Given the description of an element on the screen output the (x, y) to click on. 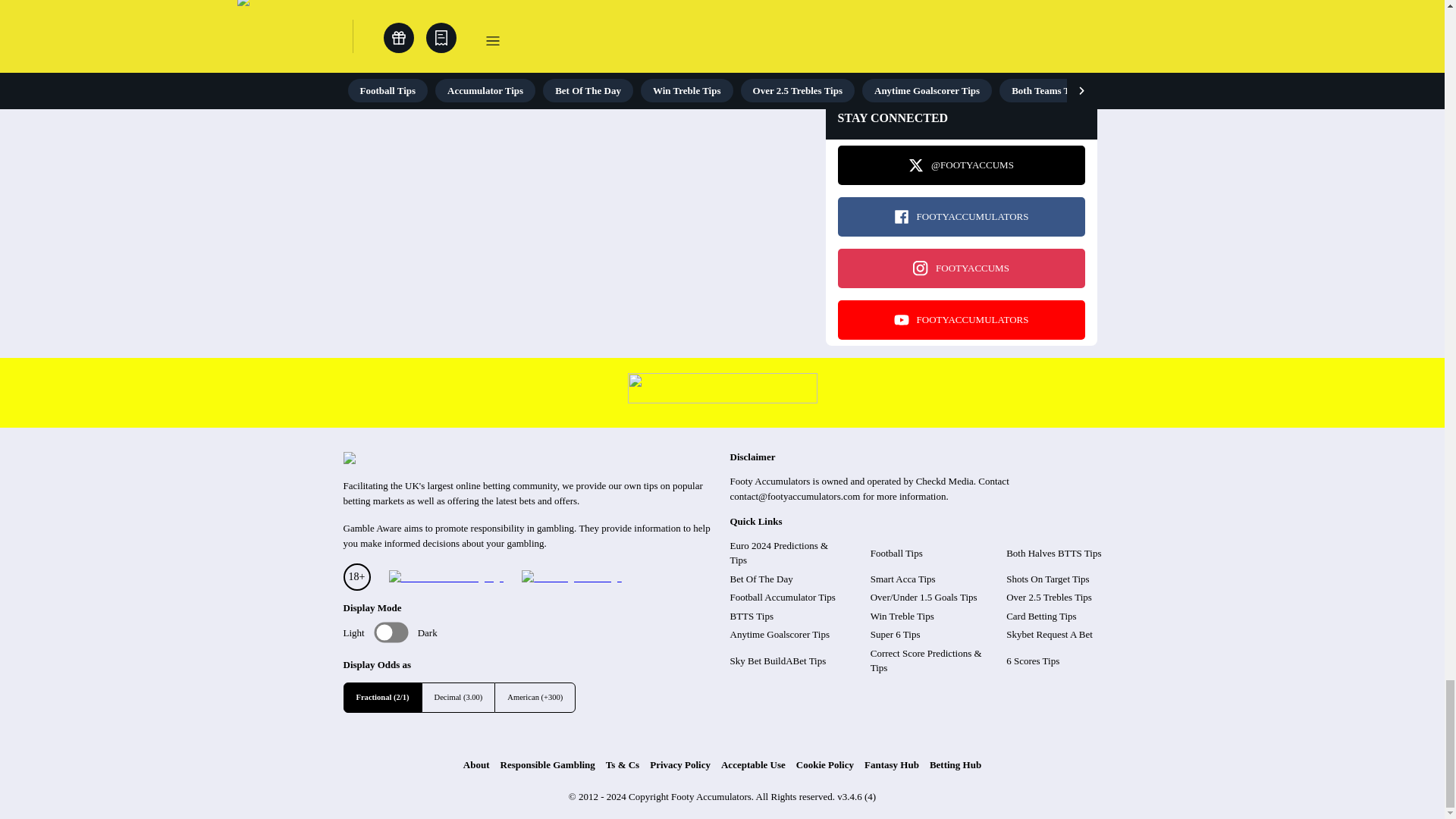
Take time to think campaign link (721, 399)
YouTube Logo (900, 319)
GamblingCare.ie (571, 577)
Be gamble aware campaign (445, 577)
Facebook Logo (900, 216)
